Given the description of an element on the screen output the (x, y) to click on. 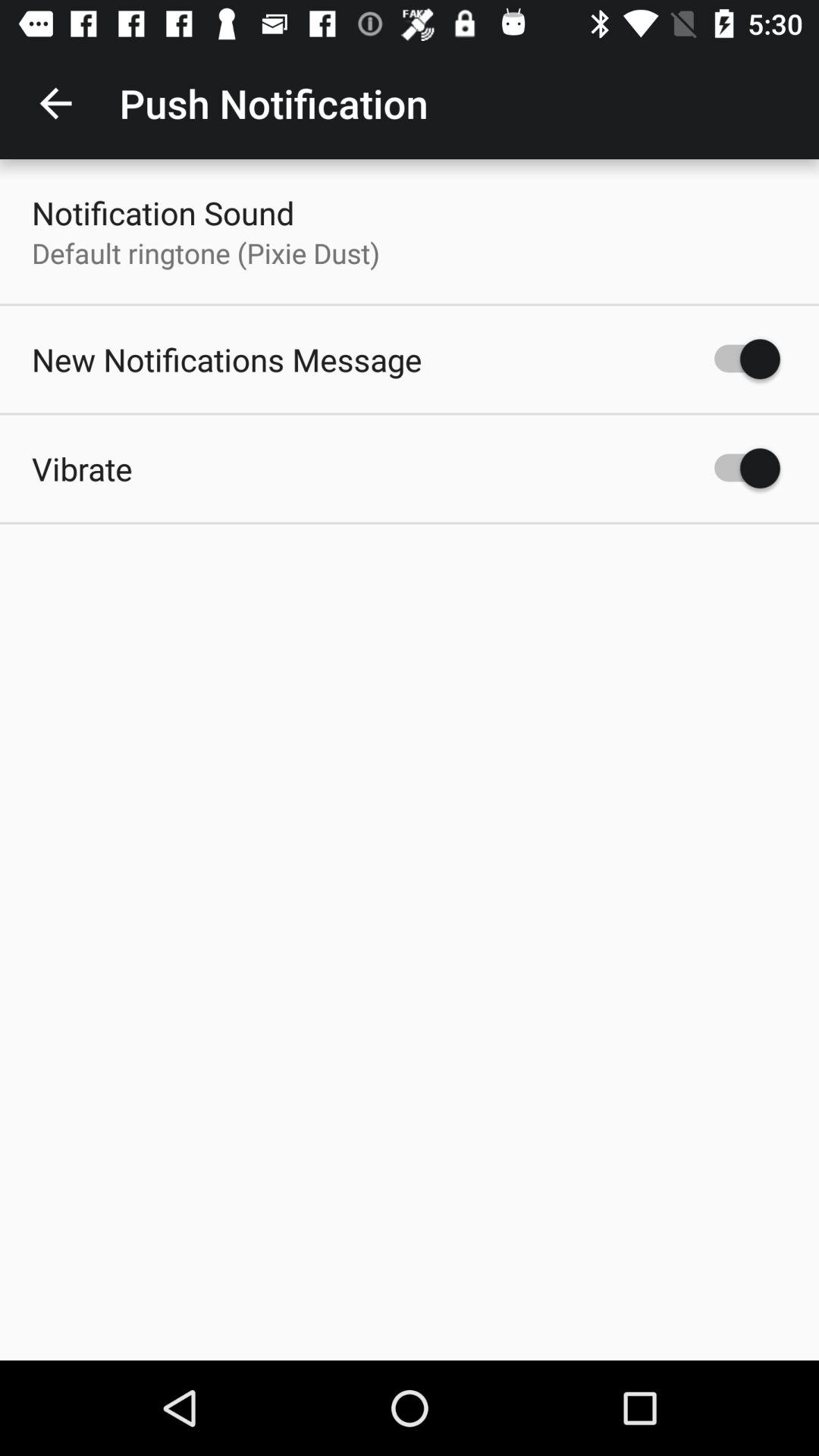
press the icon above the notification sound item (55, 103)
